Given the description of an element on the screen output the (x, y) to click on. 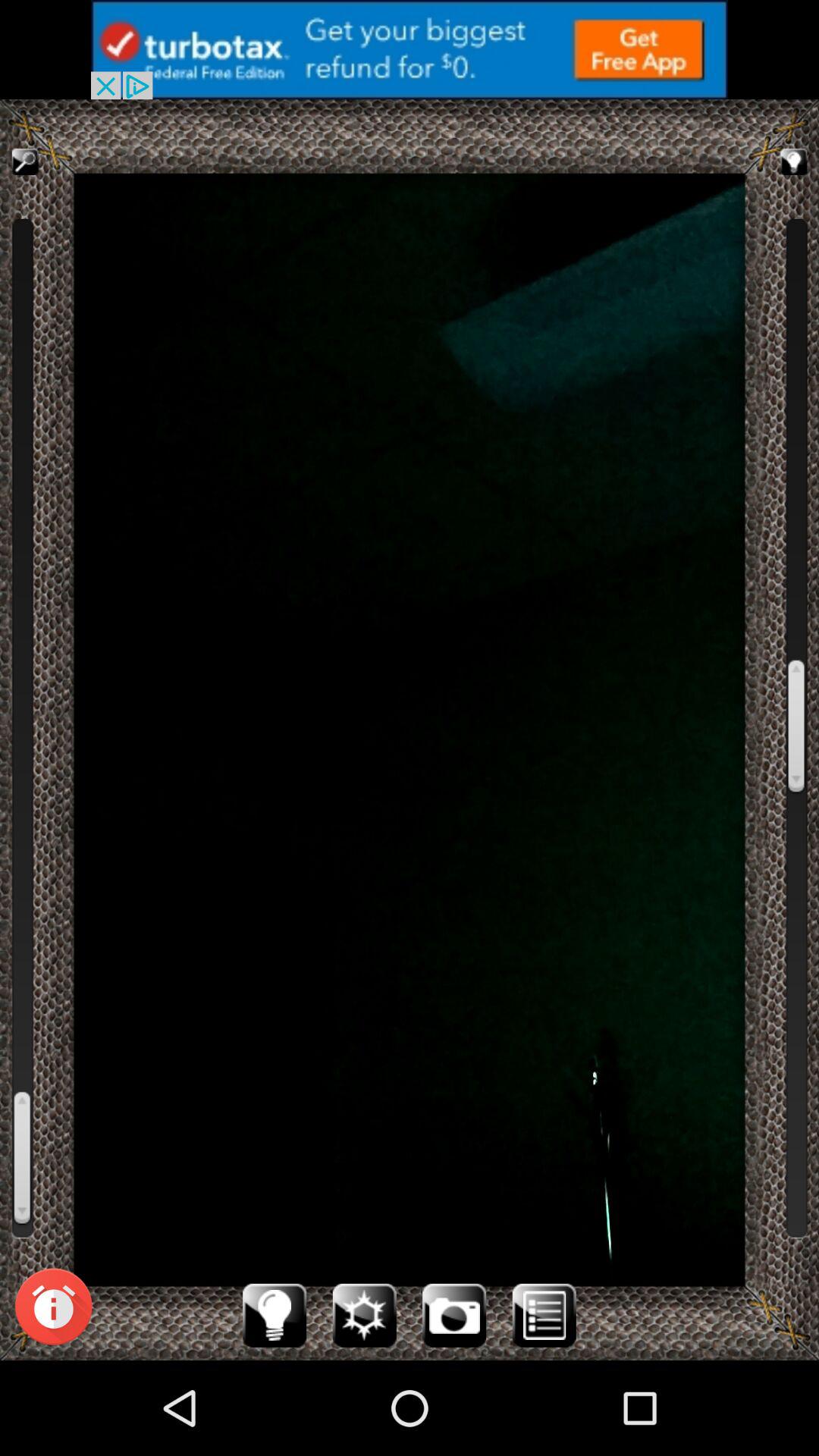
click to activate flash (364, 1315)
